Given the description of an element on the screen output the (x, y) to click on. 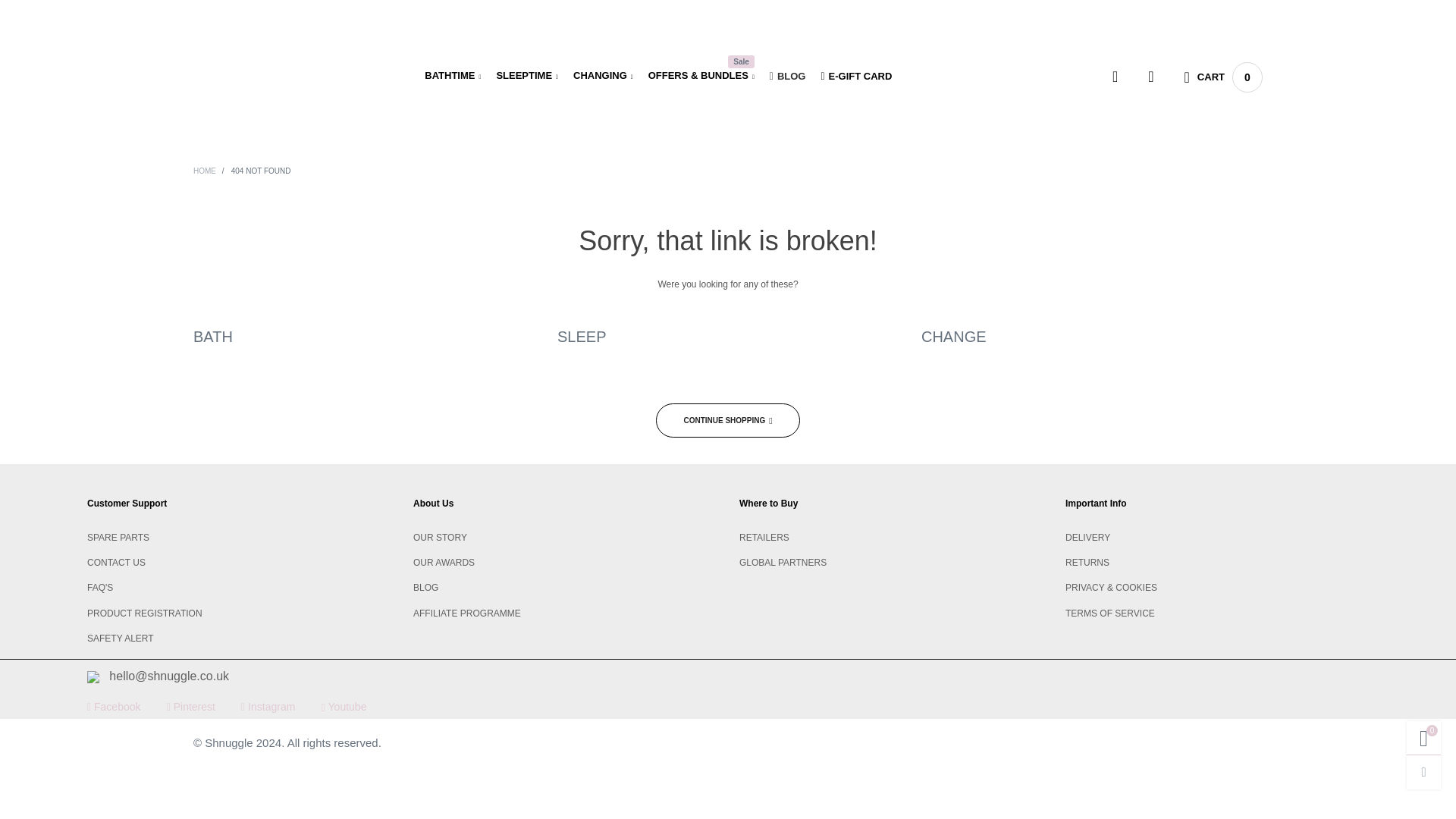
CONTINUE SHOPPING (727, 420)
BATHTIME (452, 75)
SLEEPTIME (526, 75)
Blog (788, 76)
Shnuggle (267, 74)
Bathtime (452, 75)
BLOG (788, 76)
404 NOT FOUND (261, 171)
E-Gift Card (856, 76)
Sign In (1114, 312)
